Given the description of an element on the screen output the (x, y) to click on. 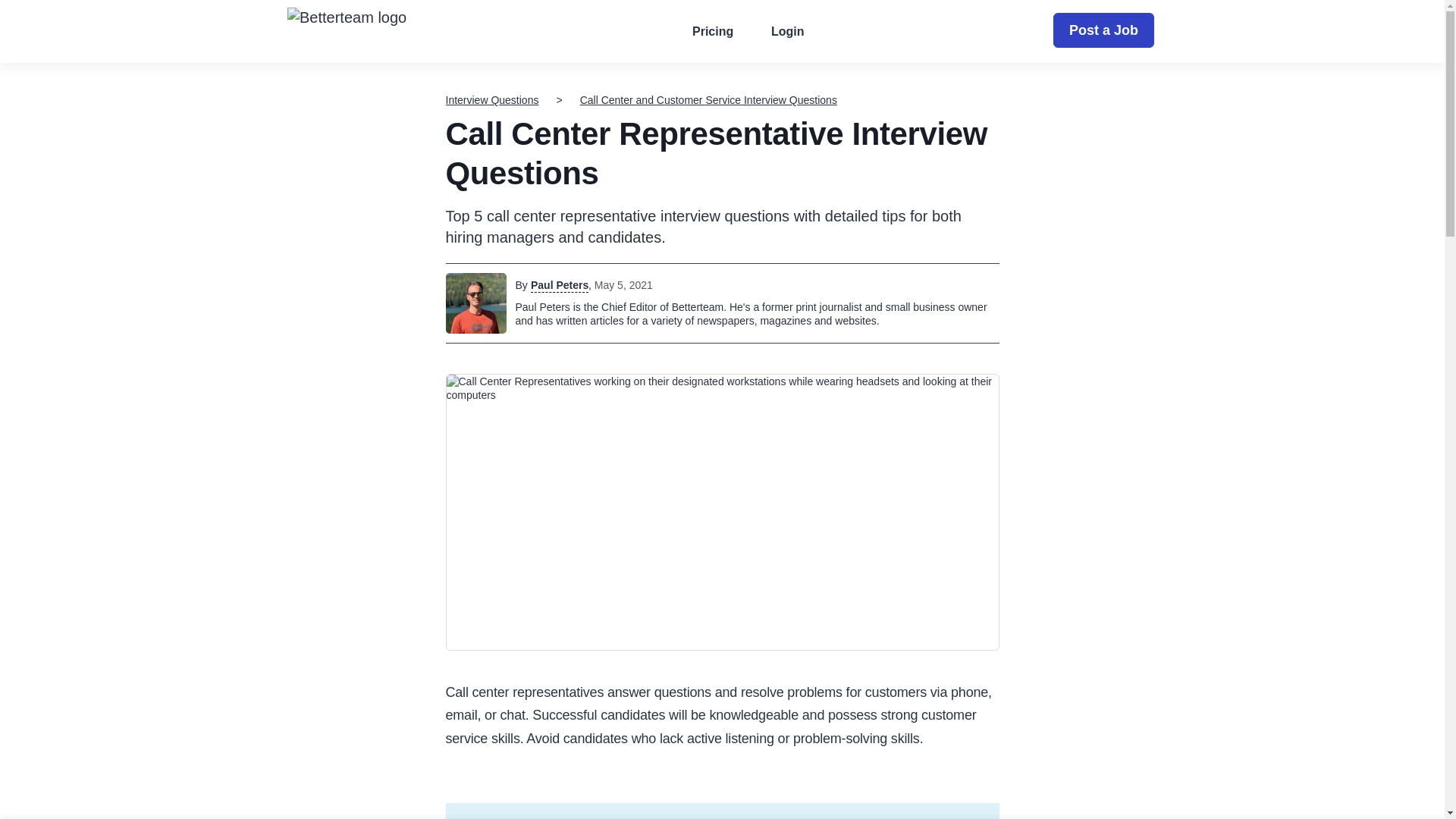
Pricing (712, 31)
Post a Job (1103, 30)
Paul Peters (559, 285)
Call Center and Customer Service Interview Questions (708, 100)
Login (787, 31)
Interview Questions (491, 100)
